Given the description of an element on the screen output the (x, y) to click on. 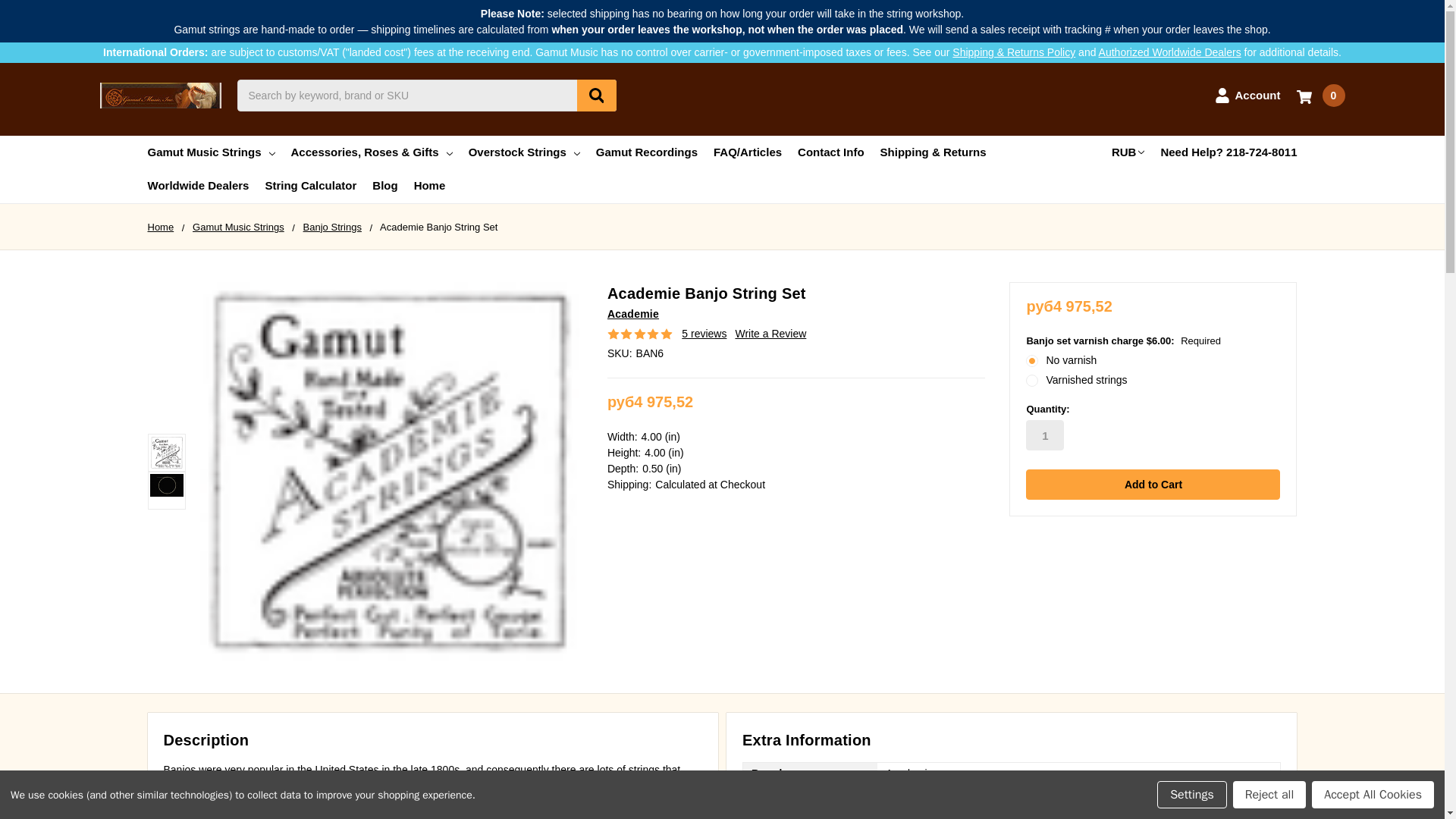
Gamut Music Strings (211, 151)
Set Academie Banjo Strings (166, 485)
Add to Cart (1152, 484)
Set Academie Banjo Strings (166, 452)
Authorized Worldwide Dealers (1170, 51)
Gamut Music (160, 95)
Account (1247, 95)
1 (1045, 435)
0 (1321, 95)
